Given the description of an element on the screen output the (x, y) to click on. 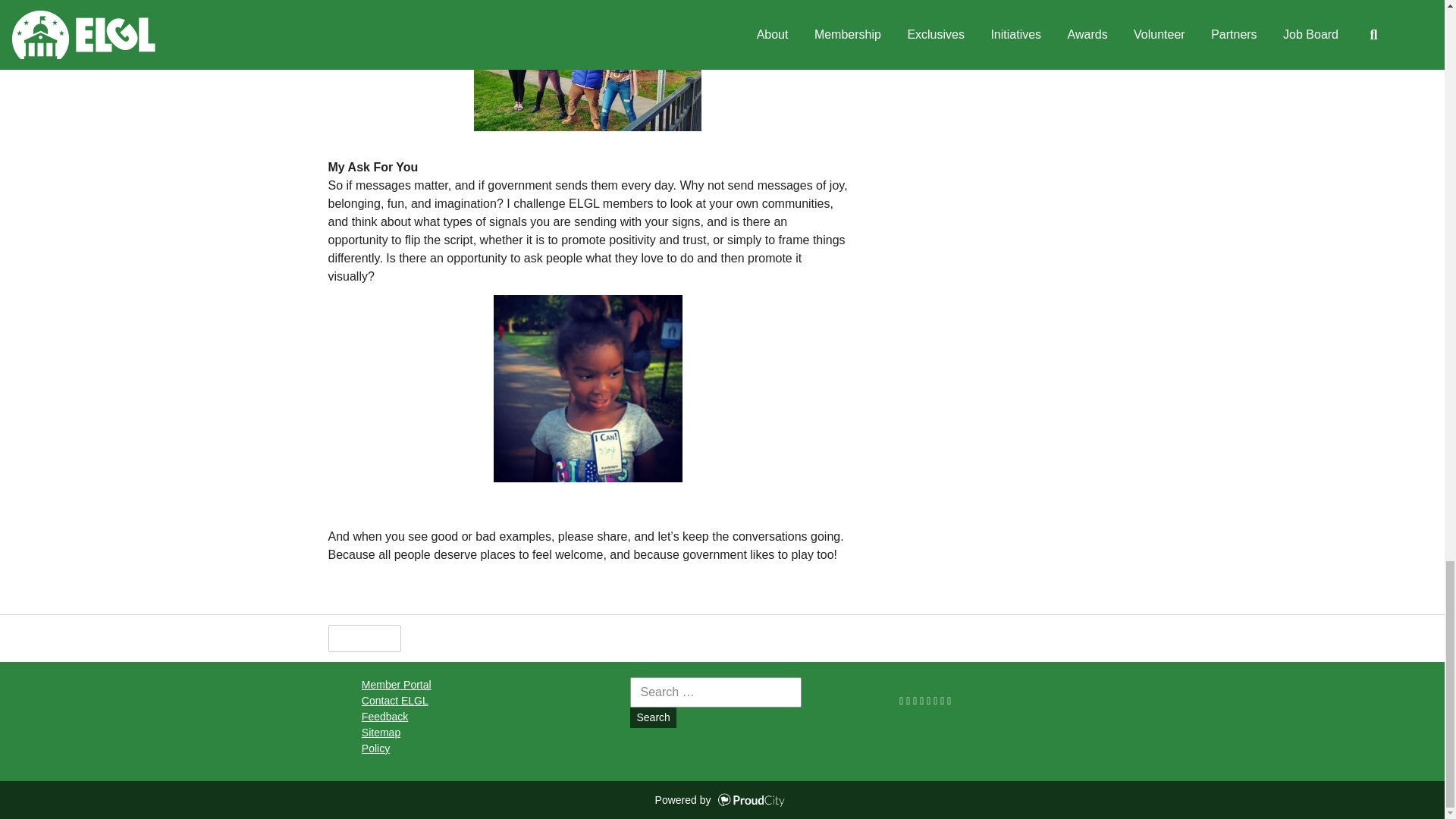
Translate (580, 638)
Search (652, 717)
Search (652, 717)
Member Portal (395, 684)
This page makes me proud (364, 637)
Helpful (364, 637)
Translate (580, 638)
Sitemap (380, 732)
Share (436, 638)
Contact ELGL (394, 700)
Size (504, 638)
Feedback (384, 716)
Policy (375, 748)
